Given the description of an element on the screen output the (x, y) to click on. 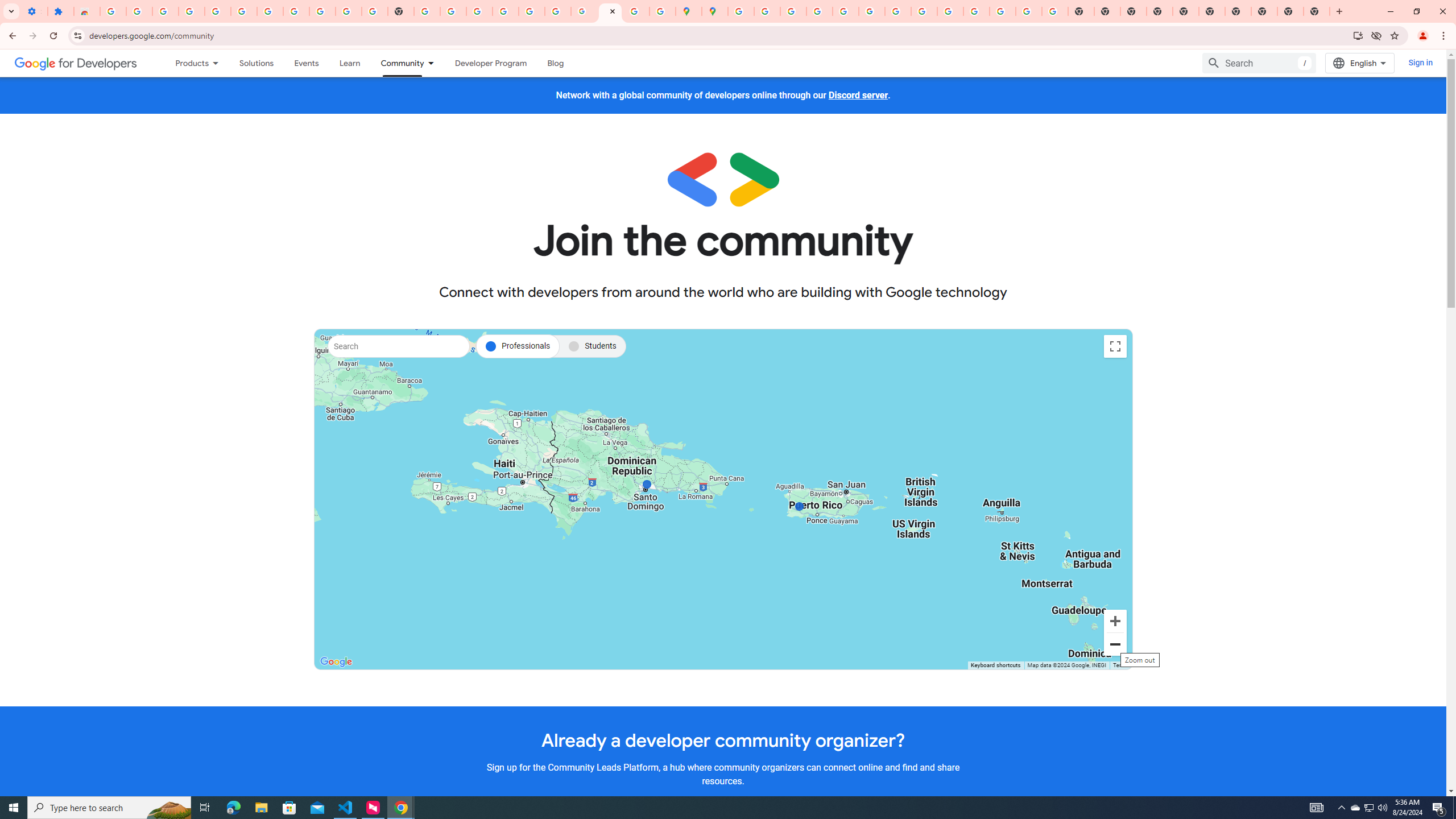
You (1422, 35)
Close (612, 11)
Forward (32, 35)
Google Images (1054, 11)
Discord server (858, 95)
Developer Program (490, 62)
Restore (1416, 11)
Sign in - Google Accounts (112, 11)
View site information (77, 35)
Sign in - Google Accounts (269, 11)
Chrome (1445, 35)
Zoom out (1114, 644)
